Given the description of an element on the screen output the (x, y) to click on. 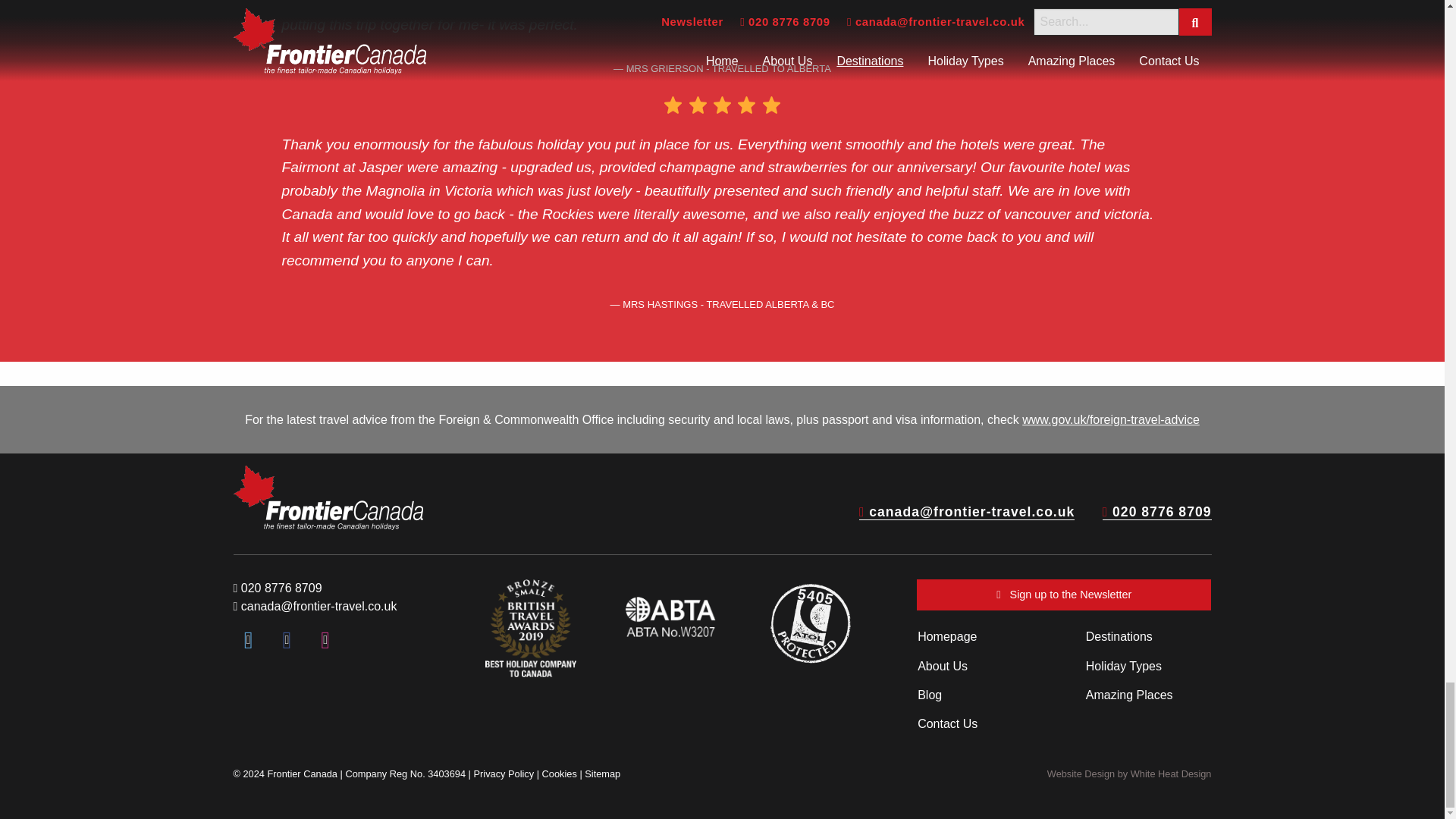
Web Designers (1128, 773)
Frontier Canada (327, 497)
